Given the description of an element on the screen output the (x, y) to click on. 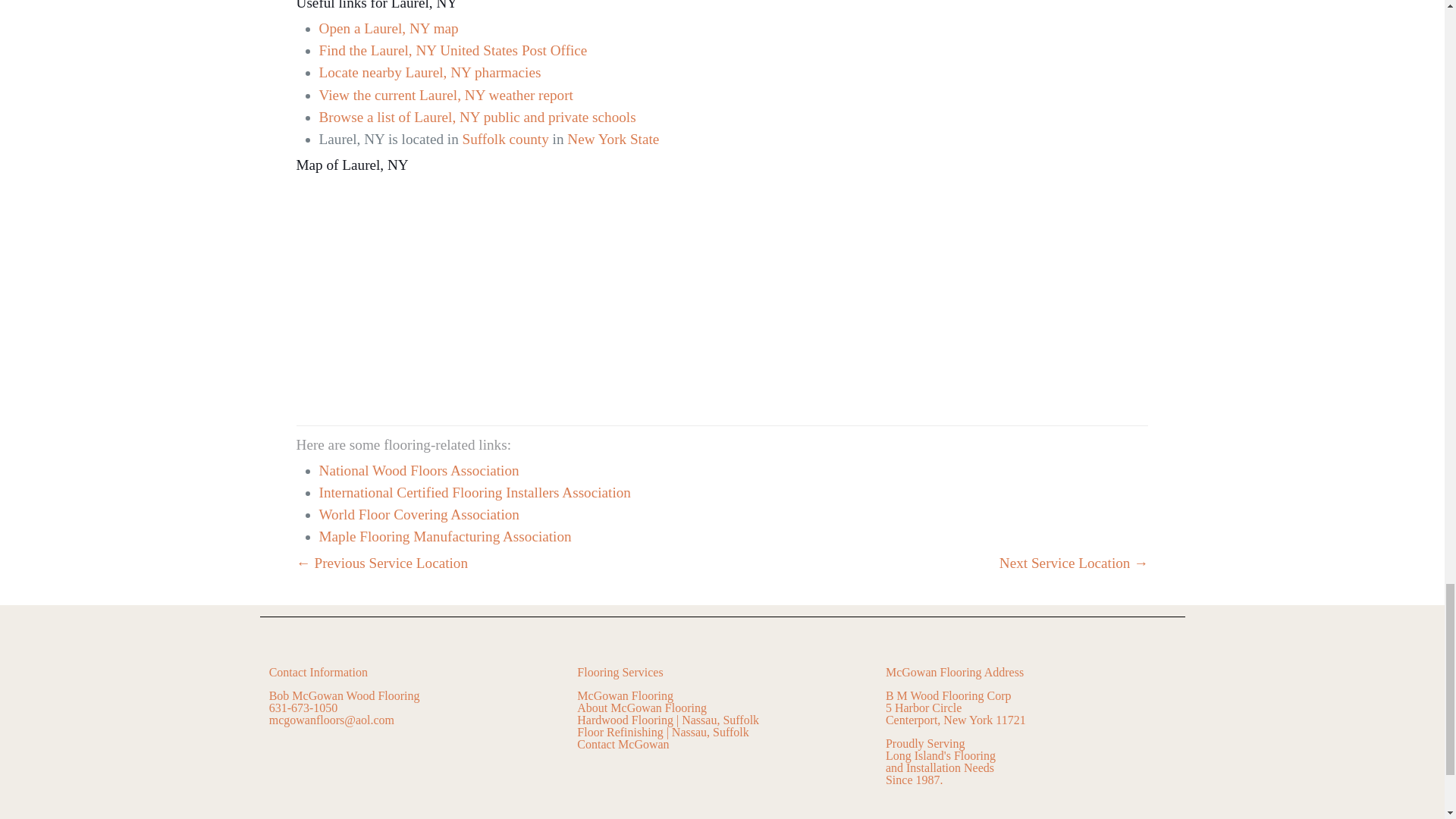
Browse a list of Laurel, NY public and private schools (477, 116)
Find the Laurel, NY United States Post Office (453, 50)
View the current Laurel, NY weather report (445, 94)
National Wood Floors Association (418, 470)
McGowan Flooring (624, 695)
New York State (613, 139)
World Floor Covering Association (418, 514)
About McGowan Flooring (641, 707)
International Certified Flooring Installers Association (474, 492)
Open a Laurel, NY map (388, 28)
Locate nearby Laurel, NY pharmacies (429, 72)
Suffolk county (505, 139)
631-673-1050 (303, 707)
Maple Flooring Manufacturing Association (445, 536)
